Given the description of an element on the screen output the (x, y) to click on. 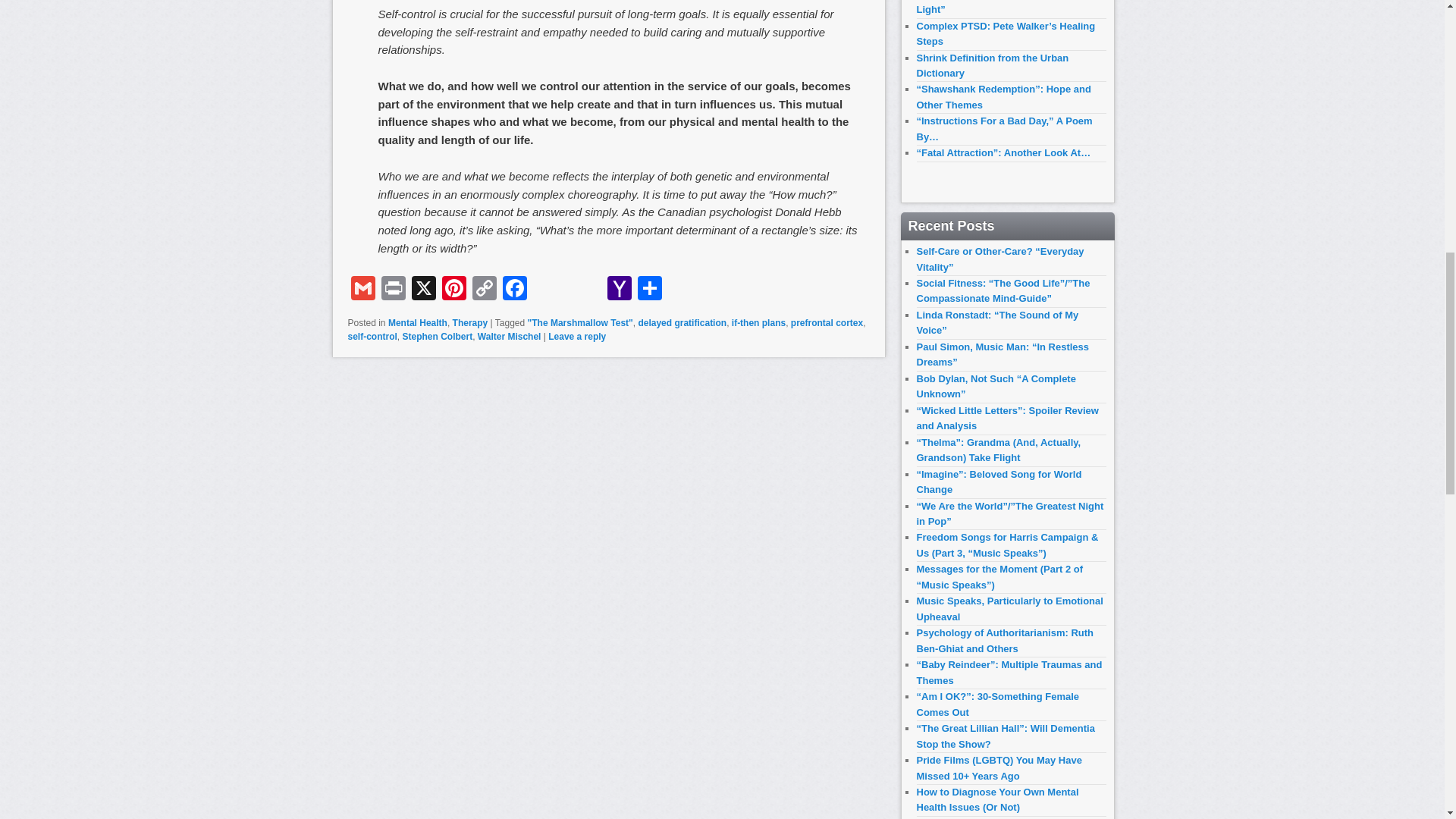
prefrontal cortex (826, 322)
Pinterest (453, 289)
Copy Link (483, 289)
"The Marshmallow Test" (580, 322)
if-then plans (759, 322)
Yahoo Mail (618, 289)
self-control (371, 336)
Therapy (469, 322)
Pinterest (453, 289)
Mental Health (417, 322)
